Given the description of an element on the screen output the (x, y) to click on. 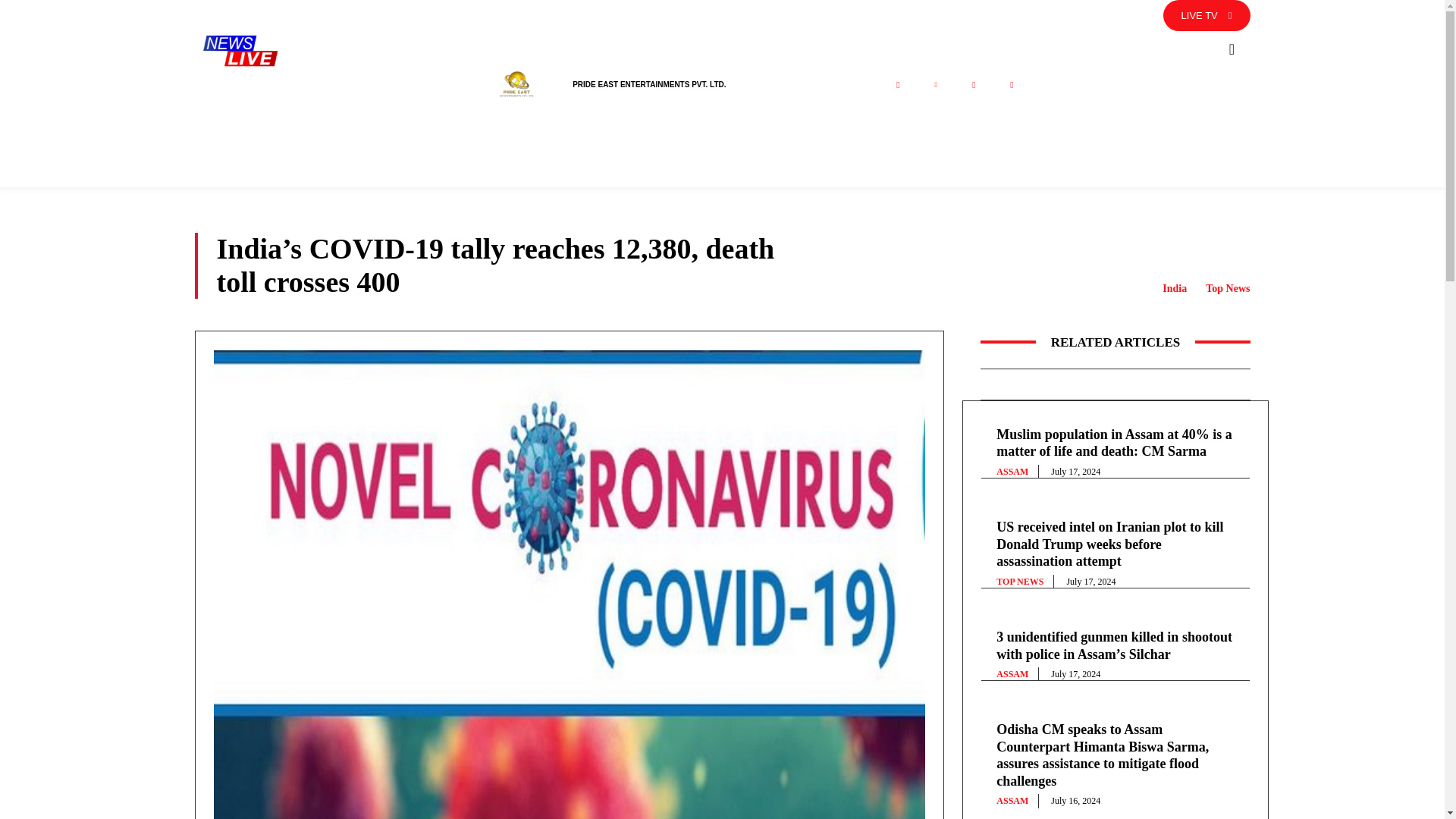
Facebook (897, 84)
Twitter (935, 84)
LIVE TV (1206, 15)
Instagram (973, 84)
PRIDE EAST ENTERTAINMENTS PVT. LTD. (648, 84)
peepl-small (516, 85)
news-live-logo (240, 50)
Youtube (1010, 84)
